Given the description of an element on the screen output the (x, y) to click on. 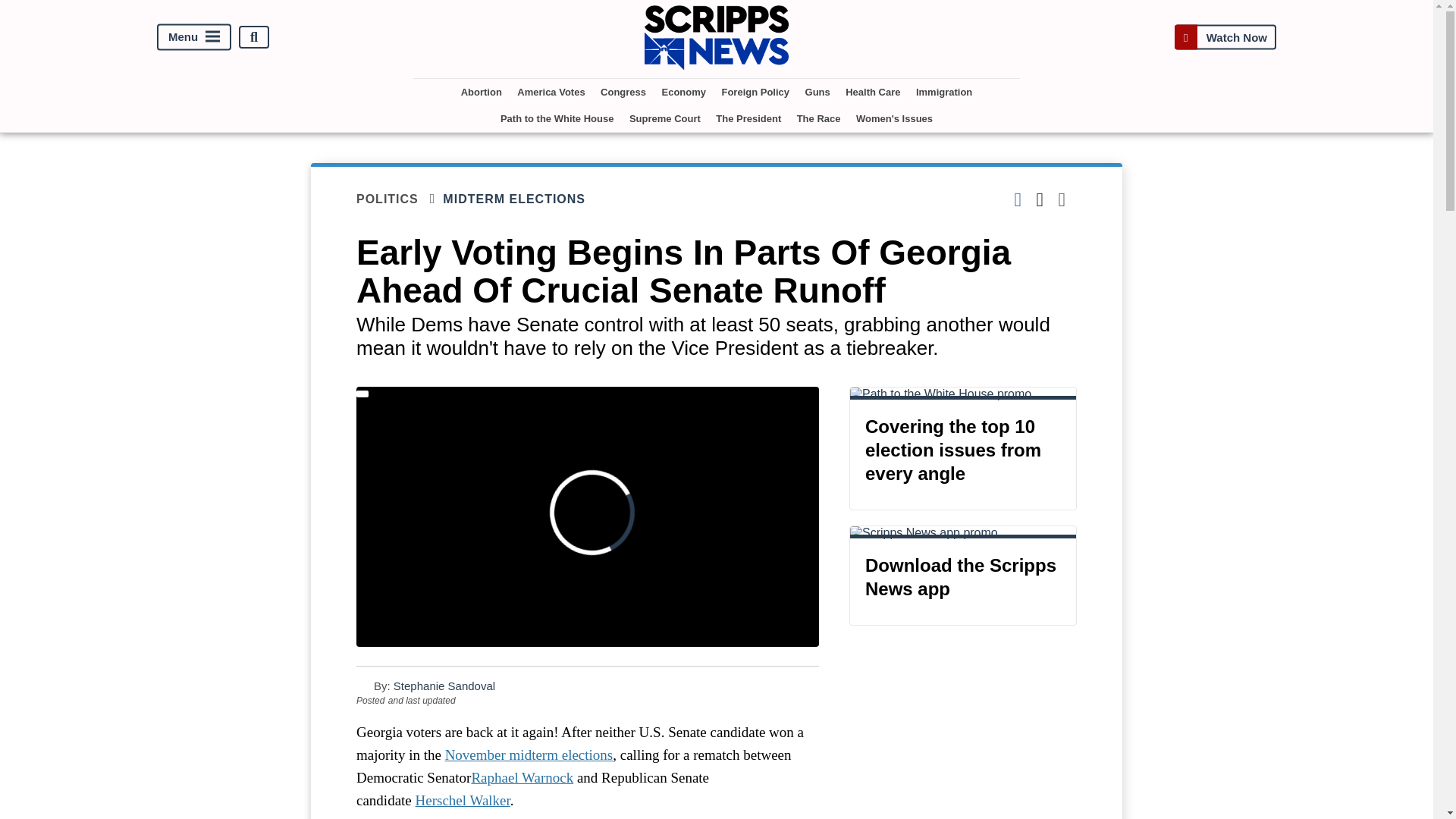
Menu (194, 37)
Watch Now (1224, 37)
